Given the description of an element on the screen output the (x, y) to click on. 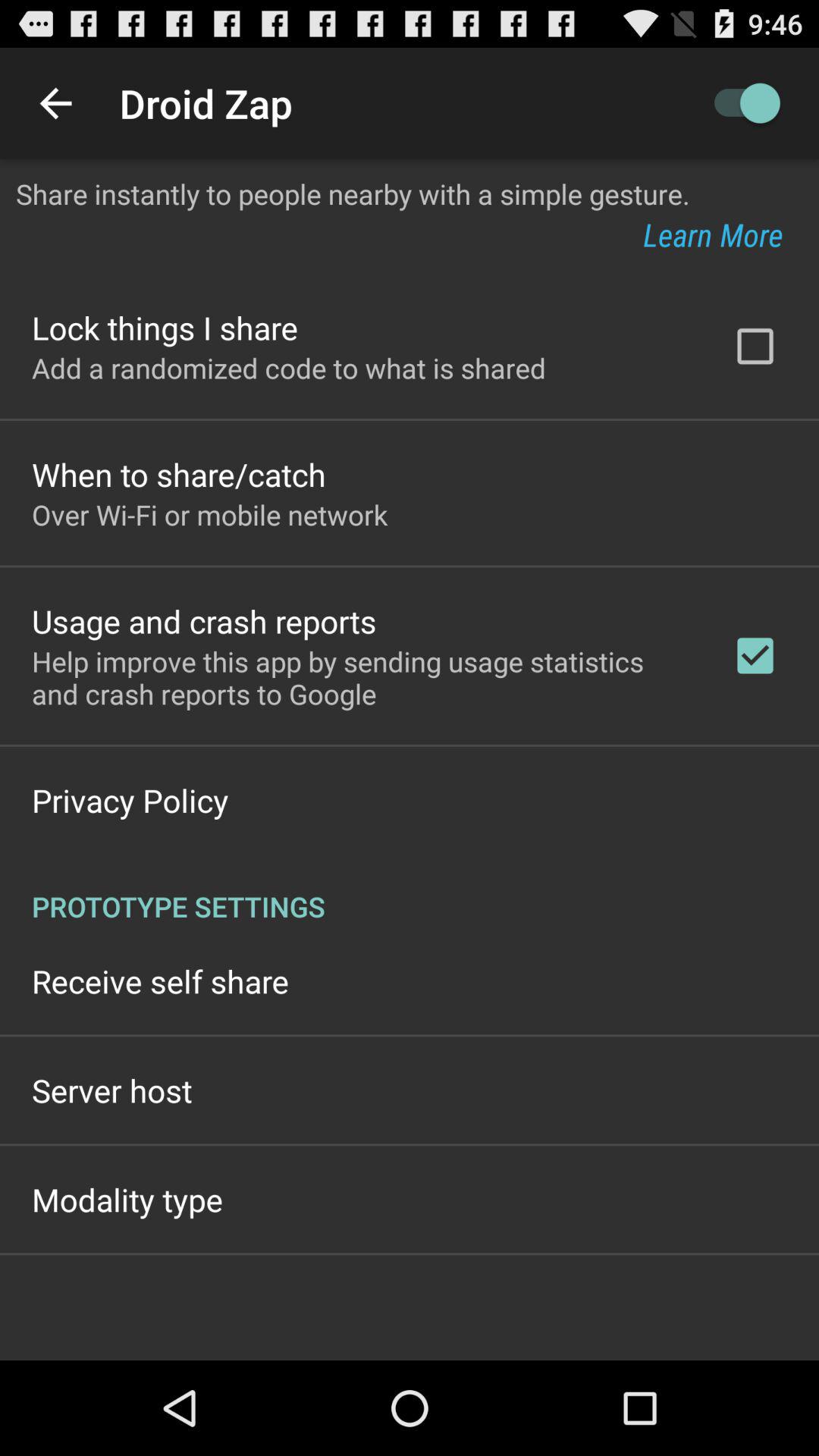
turn off the item below server host item (126, 1199)
